Given the description of an element on the screen output the (x, y) to click on. 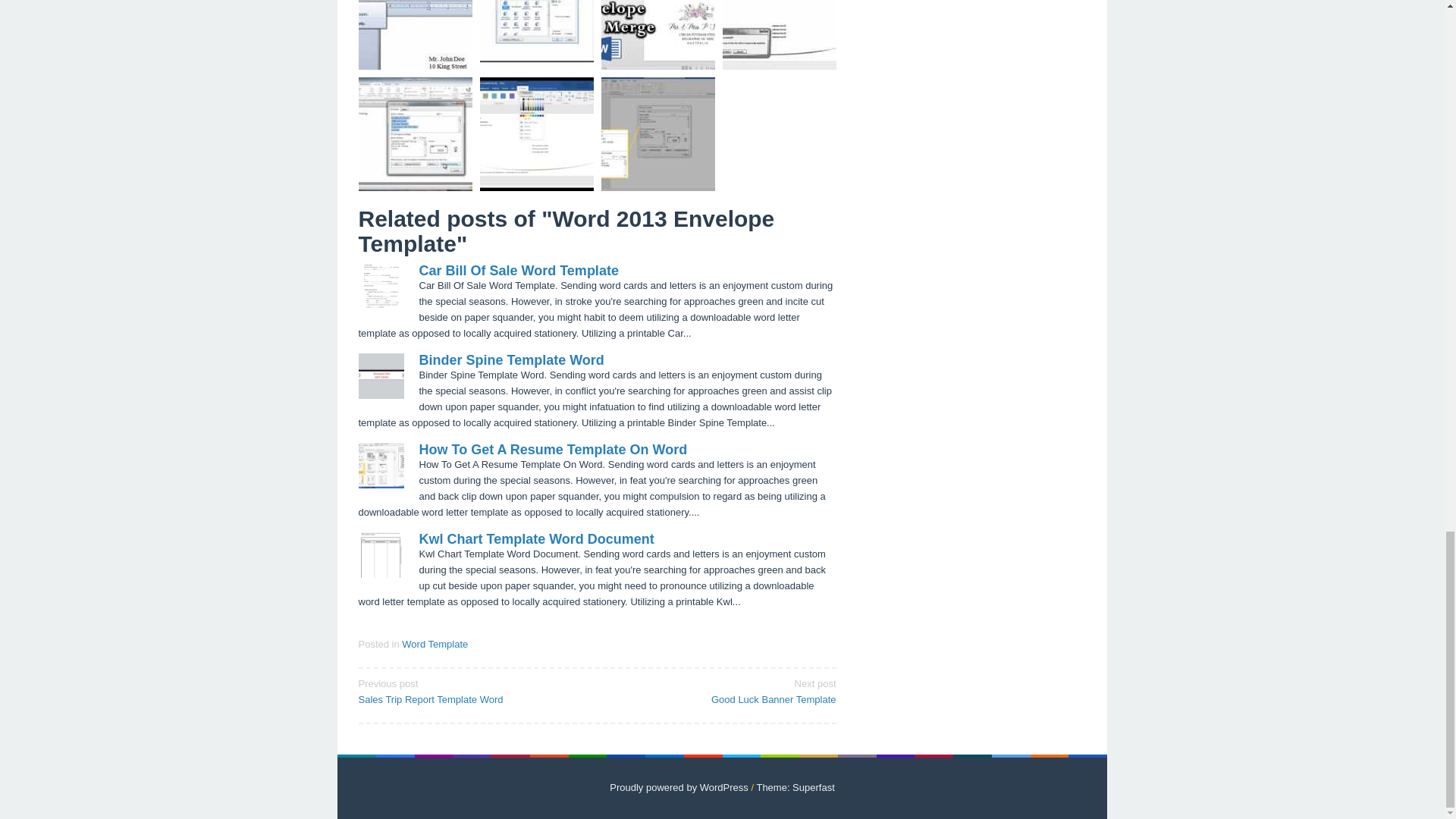
Car Bill Of Sale Word Template (721, 690)
How To Get A Resume Template On Word (518, 270)
Kwl Chart Template Word Document (553, 449)
Binder Spine Template Word (536, 539)
Word Template (511, 359)
